Given the description of an element on the screen output the (x, y) to click on. 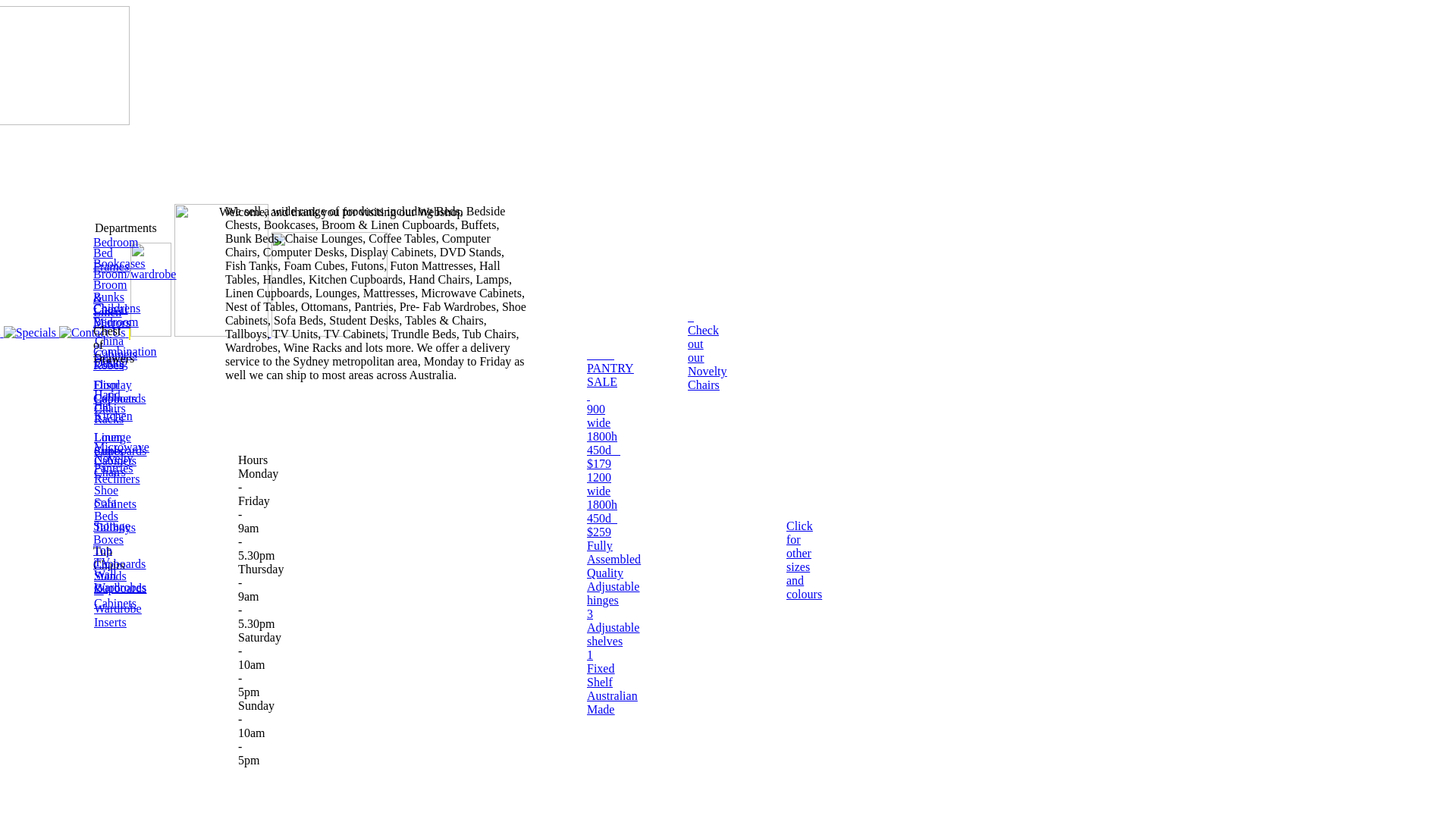
   Check out our Novelty Chairs Element type: text (707, 350)
Click for other sizes and colours Element type: text (804, 559)
Lounge Suites Element type: text (112, 443)
Bookcases Element type: text (118, 263)
  Element type: text (587, 395)
Sofa Beds Element type: text (106, 508)
Broom & Linen Element type: text (109, 298)
Combination Robes Element type: text (124, 358)
Wardrobes Element type: text (120, 586)
Floor Cupboards Element type: text (119, 391)
Desks Element type: text (108, 362)
          PANTRY SALE Element type: text (609, 368)
Top Cupboards Element type: text (119, 556)
Novelty Chairs Element type: text (113, 464)
Microwave Cabinets Element type: text (121, 453)
Bunks Element type: text (108, 296)
Shoe Cabinets Element type: text (115, 496)
1 Fixed Shelf Element type: text (600, 668)
Broom/wardrobe Element type: text (134, 273)
Quality Adjustable hinges Element type: text (612, 586)
Storage Boxes Element type: text (111, 532)
Pantries Element type: text (113, 467)
Recliners Element type: text (116, 478)
Childrens Bedroom Element type: text (116, 314)
Display Cabinets Element type: text (115, 391)
Wall Cupboards Element type: text (120, 580)
Linen Cupboards Element type: text (120, 443)
Hand Chairs Element type: text (109, 401)
1200 wide 1800h 450d   $259 Element type: text (601, 504)
Fully Assembled Element type: text (613, 552)
Kitchen Element type: text (113, 415)
Tallboys Element type: text (114, 526)
Bedroom Element type: text (115, 241)
Bed Frames Element type: text (110, 259)
Australian Made Element type: text (611, 702)
TV Stands & Cabinets Element type: text (115, 582)
Hat Racks Element type: text (108, 411)
China Cabinets Element type: text (115, 347)
3 Adjustable shelves Element type: text (612, 627)
Dining Element type: text (110, 362)
900 wide 1800h 450d    $179 Element type: text (603, 436)
Cheval Mirrors Element type: text (111, 315)
Wardrobe Inserts Element type: text (117, 615)
